Given the description of an element on the screen output the (x, y) to click on. 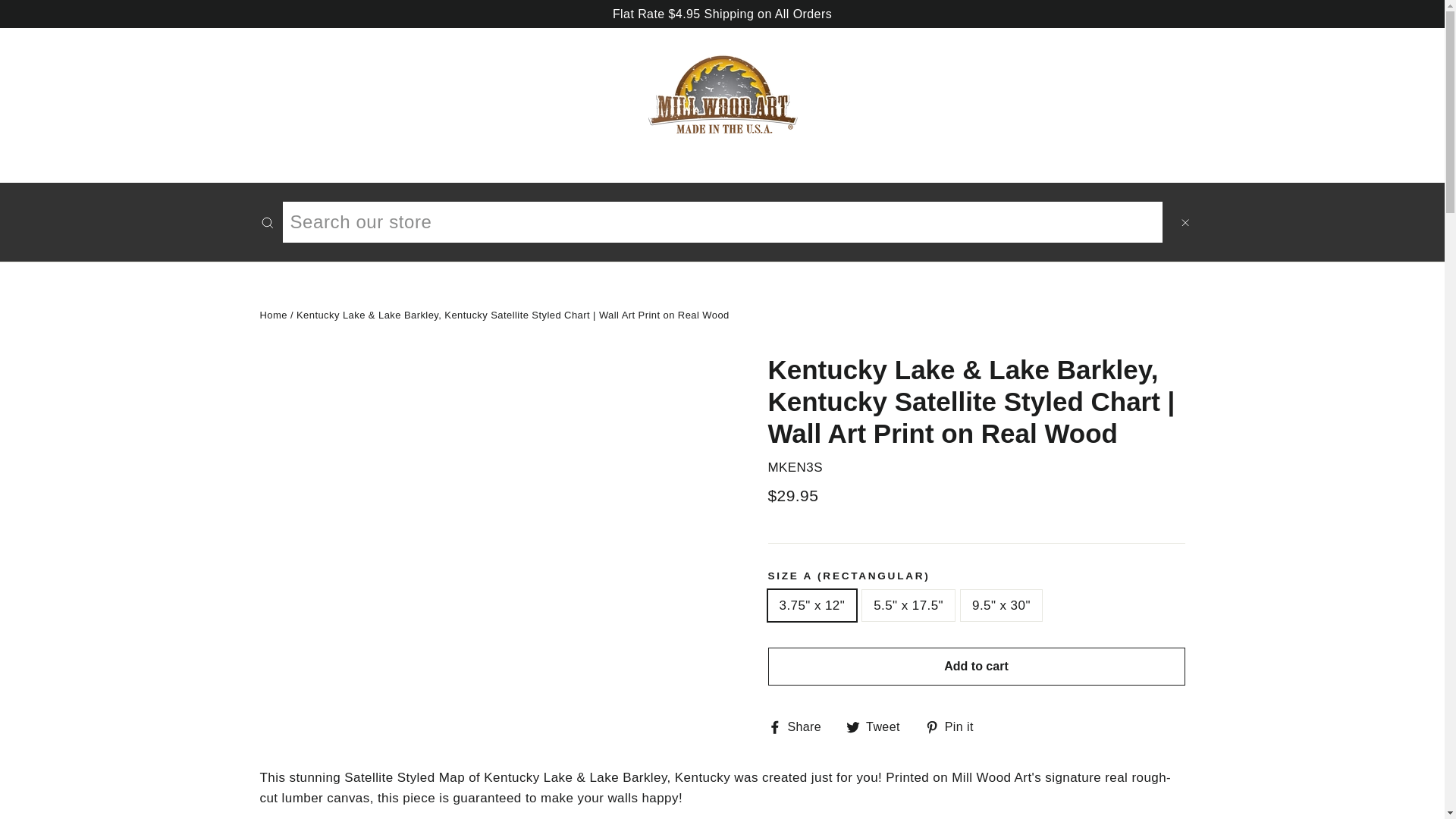
Skip to content (878, 726)
Back to the frontpage (263, 221)
Pin on Pinterest (272, 315)
Share on Facebook (954, 726)
3.75" x 12" (799, 726)
Home (799, 726)
Add to cart (272, 315)
